Given the description of an element on the screen output the (x, y) to click on. 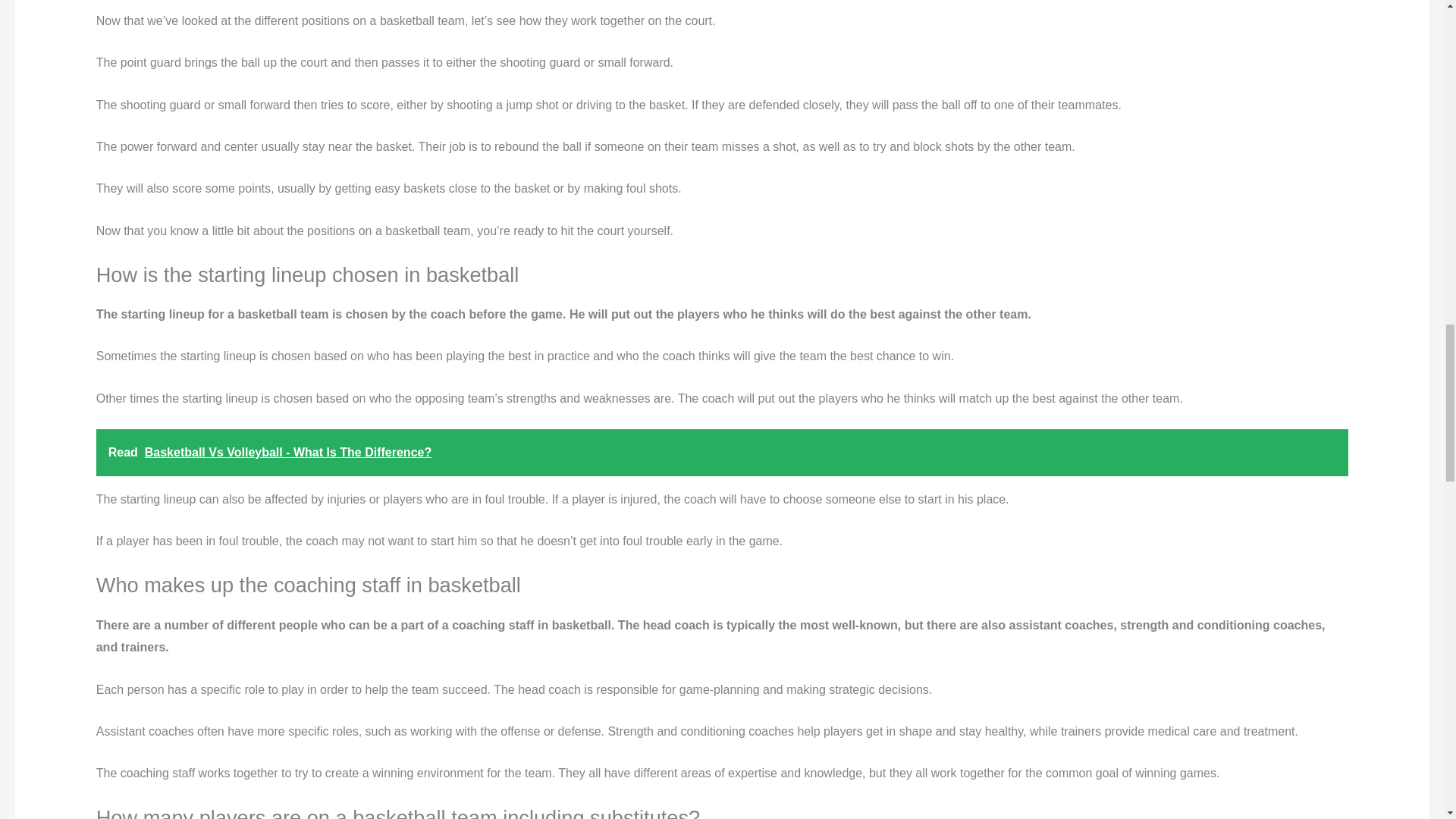
Read  Basketball Vs Volleyball - What Is The Difference? (722, 452)
